Given the description of an element on the screen output the (x, y) to click on. 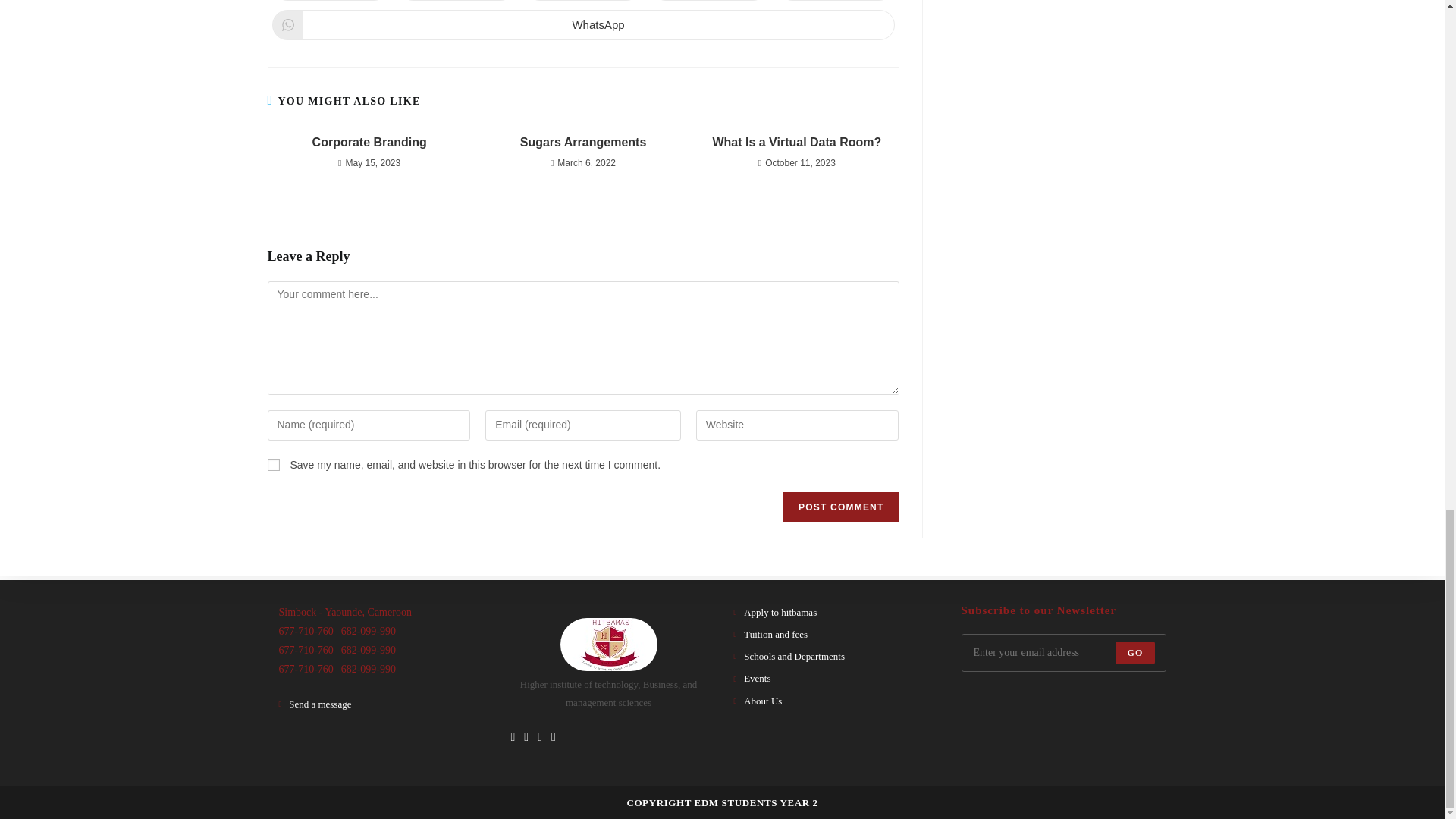
yes (272, 464)
Post Comment (840, 507)
